Given the description of an element on the screen output the (x, y) to click on. 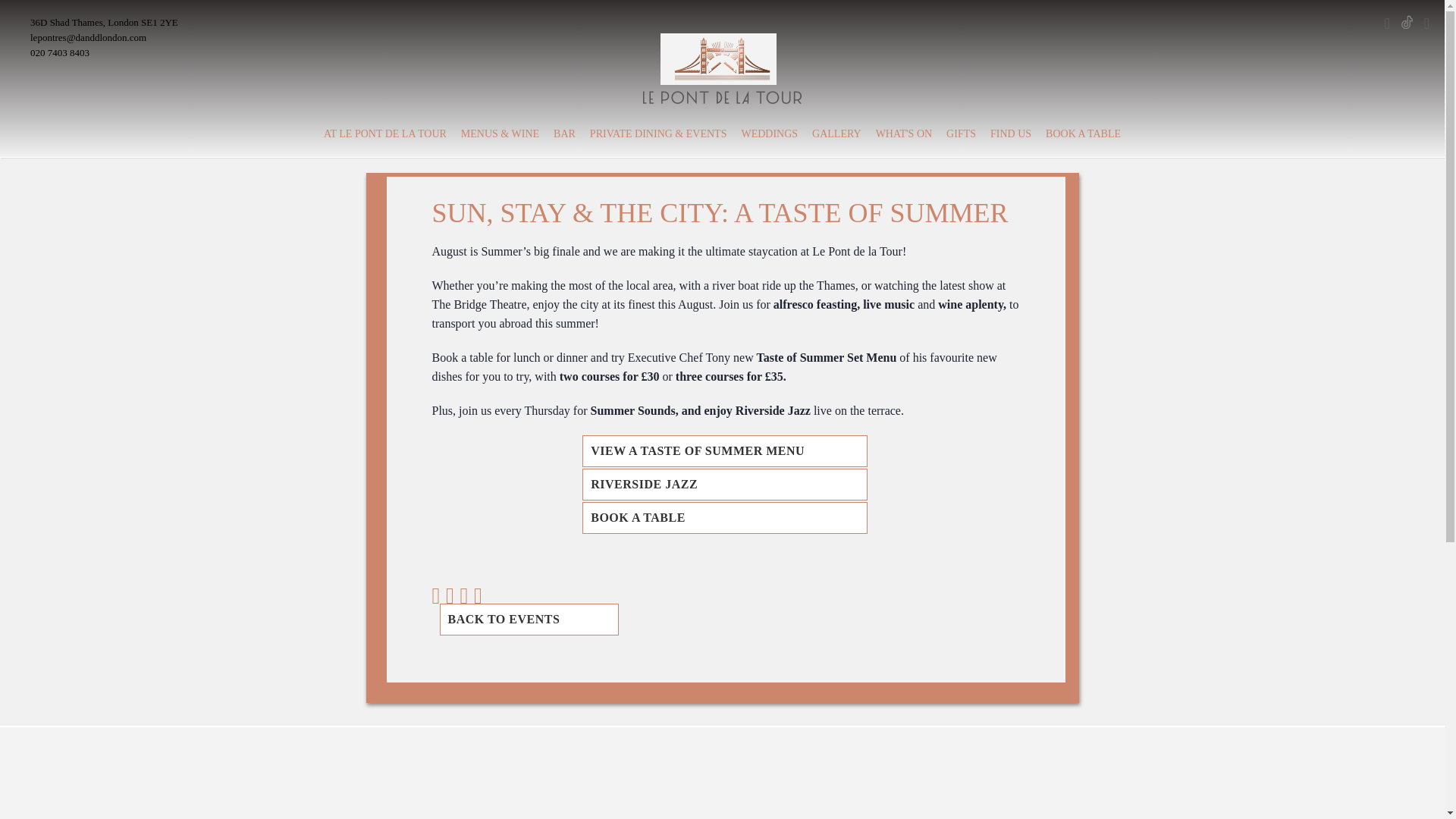
BOOK A TABLE (1083, 133)
WHAT'S ON (903, 133)
RIVERSIDE JAZZ (724, 484)
VIEW A TASTE OF SUMMER MENU (724, 450)
GALLERY (836, 133)
Book Now (960, 813)
AT LE PONT DE LA TOUR (384, 133)
GIFTS (960, 133)
WEDDINGS (769, 133)
020 7403 8403 (59, 52)
BACK TO EVENTS (528, 619)
BAR (564, 133)
BOOK A TABLE (724, 517)
FIND US (1010, 133)
